Given the description of an element on the screen output the (x, y) to click on. 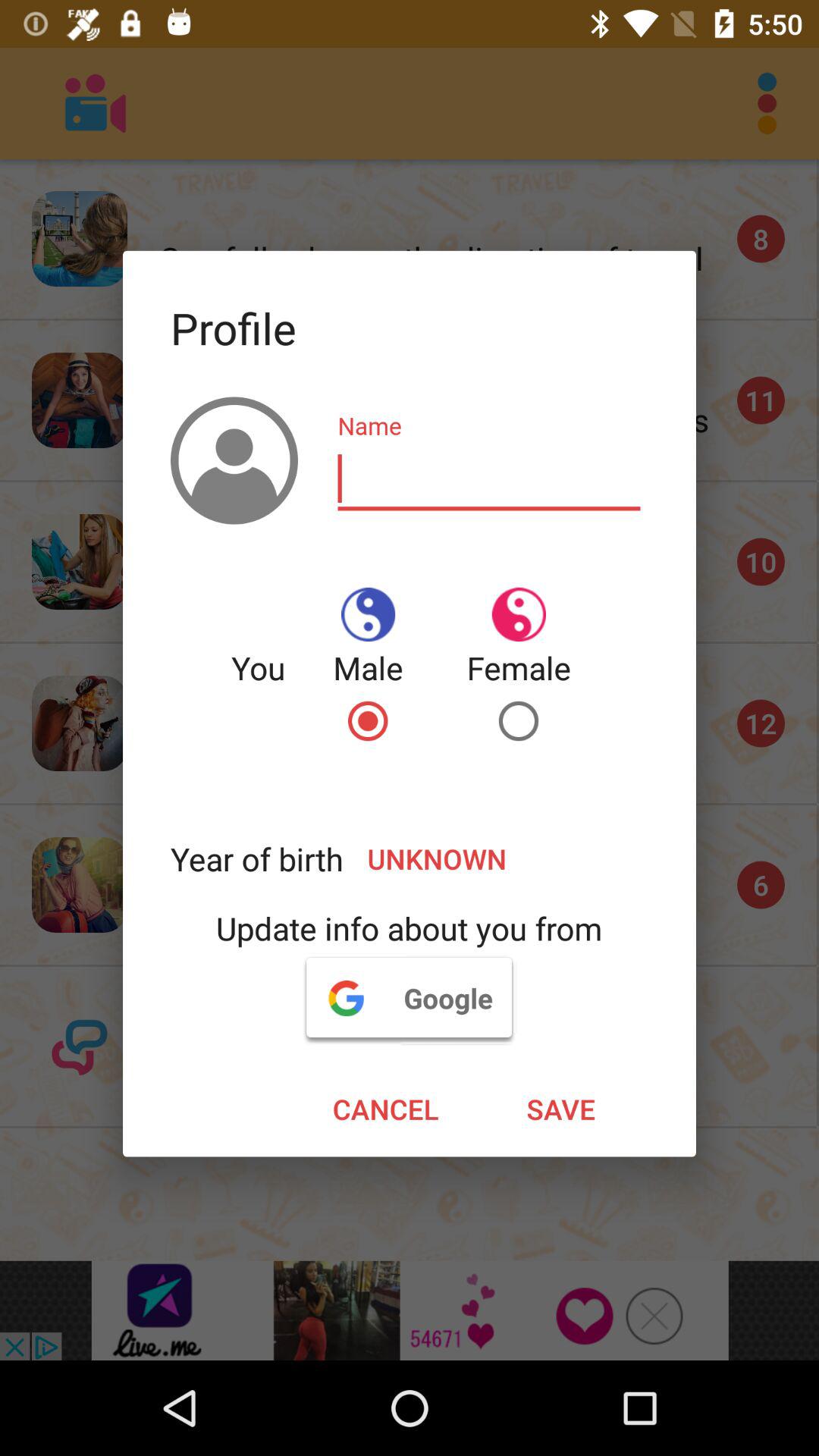
open item to the left of save (385, 1108)
